Given the description of an element on the screen output the (x, y) to click on. 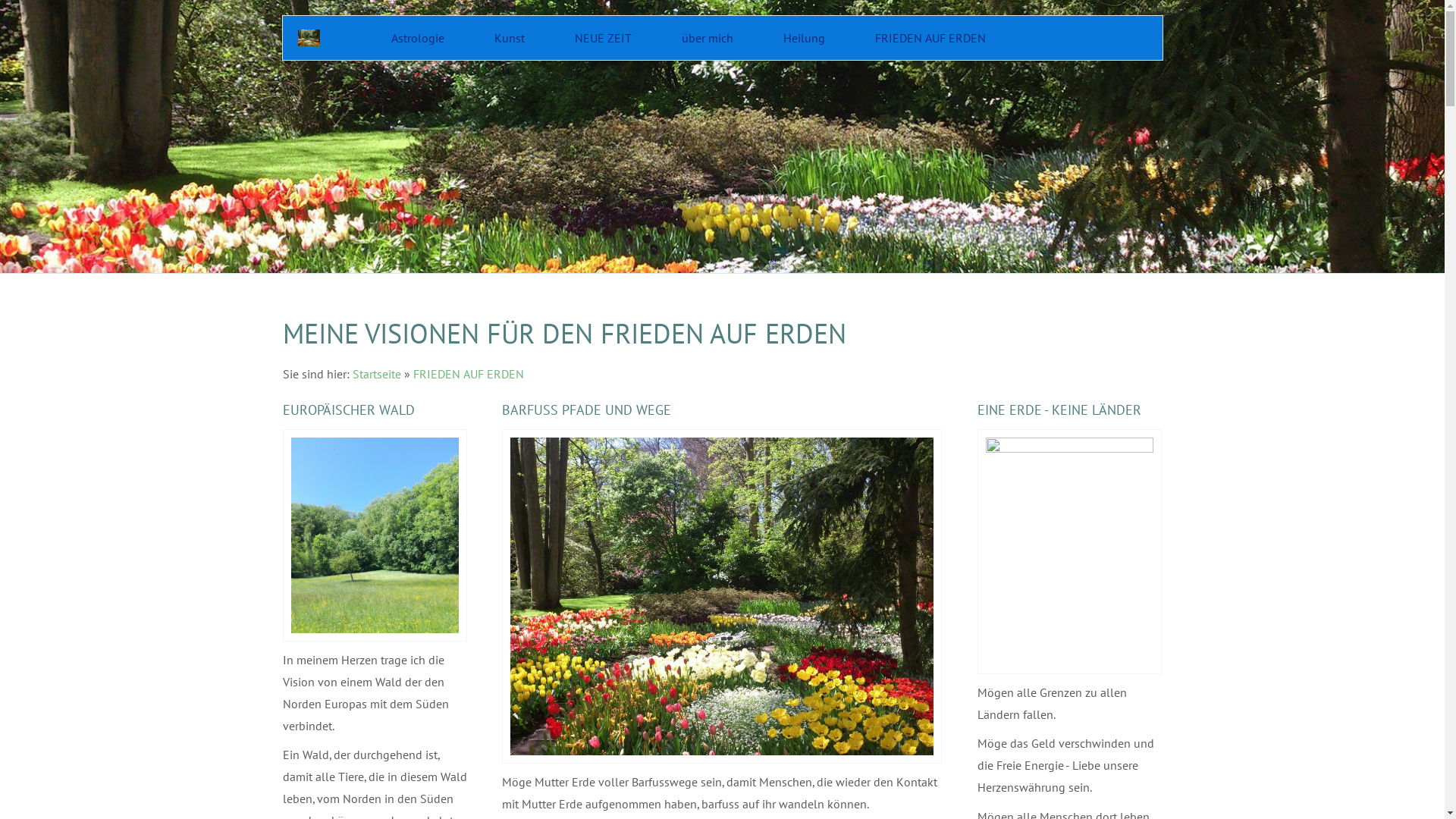
FRIEDEN AUF ERDEN Element type: text (930, 37)
FRIEDEN AUF ERDEN Element type: text (467, 373)
Astrologie Element type: text (425, 37)
NEUE ZEIT Element type: text (611, 37)
Kunst Element type: text (517, 37)
Heilung Element type: text (811, 37)
Startseite Element type: text (375, 373)
